Given the description of an element on the screen output the (x, y) to click on. 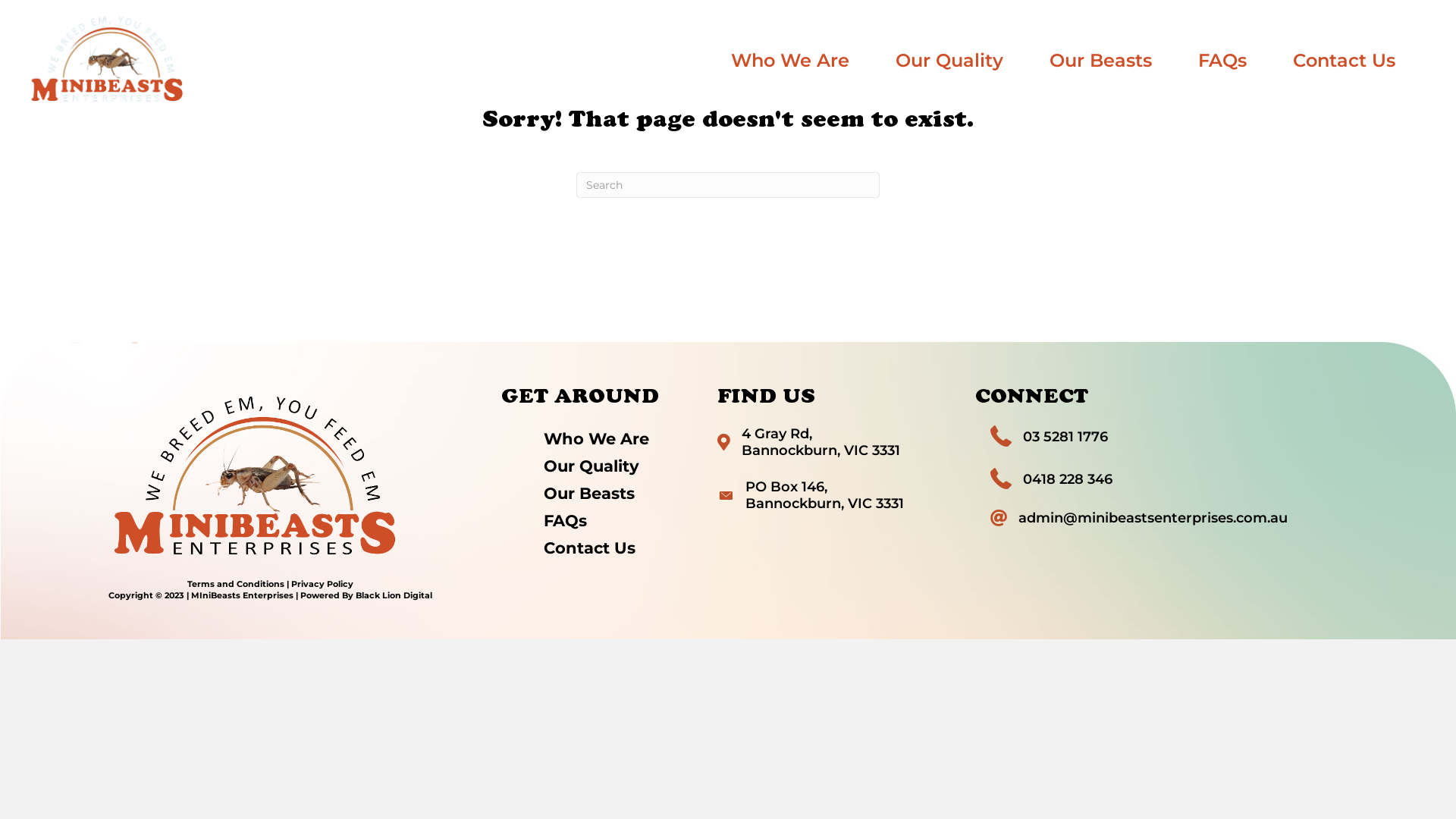
03 5281 1776 Element type: text (1064, 436)
Who We Are Element type: text (610, 438)
Privacy Policy Element type: text (322, 583)
MiniBeasts-Wht Optimized Element type: hover (106, 58)
Type and press Enter to search. Element type: hover (727, 184)
FAQs Element type: text (1222, 59)
4 Gray Rd,
Bannockburn, VIC 3331 Element type: text (820, 441)
Our Quality Element type: text (610, 465)
Our Beasts Element type: text (610, 493)
Our Quality Element type: text (949, 59)
FAQs Element type: text (610, 520)
PO Box 146,
Bannockburn, VIC 3331 Element type: text (824, 494)
Who We Are Element type: text (790, 59)
Contact Us Element type: text (610, 547)
admin@minibeastsenterprises.com.au Element type: text (1152, 517)
0418 228 346 Element type: text (1067, 478)
Our Beasts Element type: text (1100, 59)
Powered By Black Lion Digital Element type: text (366, 594)
Contact Us Element type: text (1344, 59)
MiniBeasts-Logo Element type: hover (254, 475)
Terms and Conditions Element type: text (235, 583)
